Given the description of an element on the screen output the (x, y) to click on. 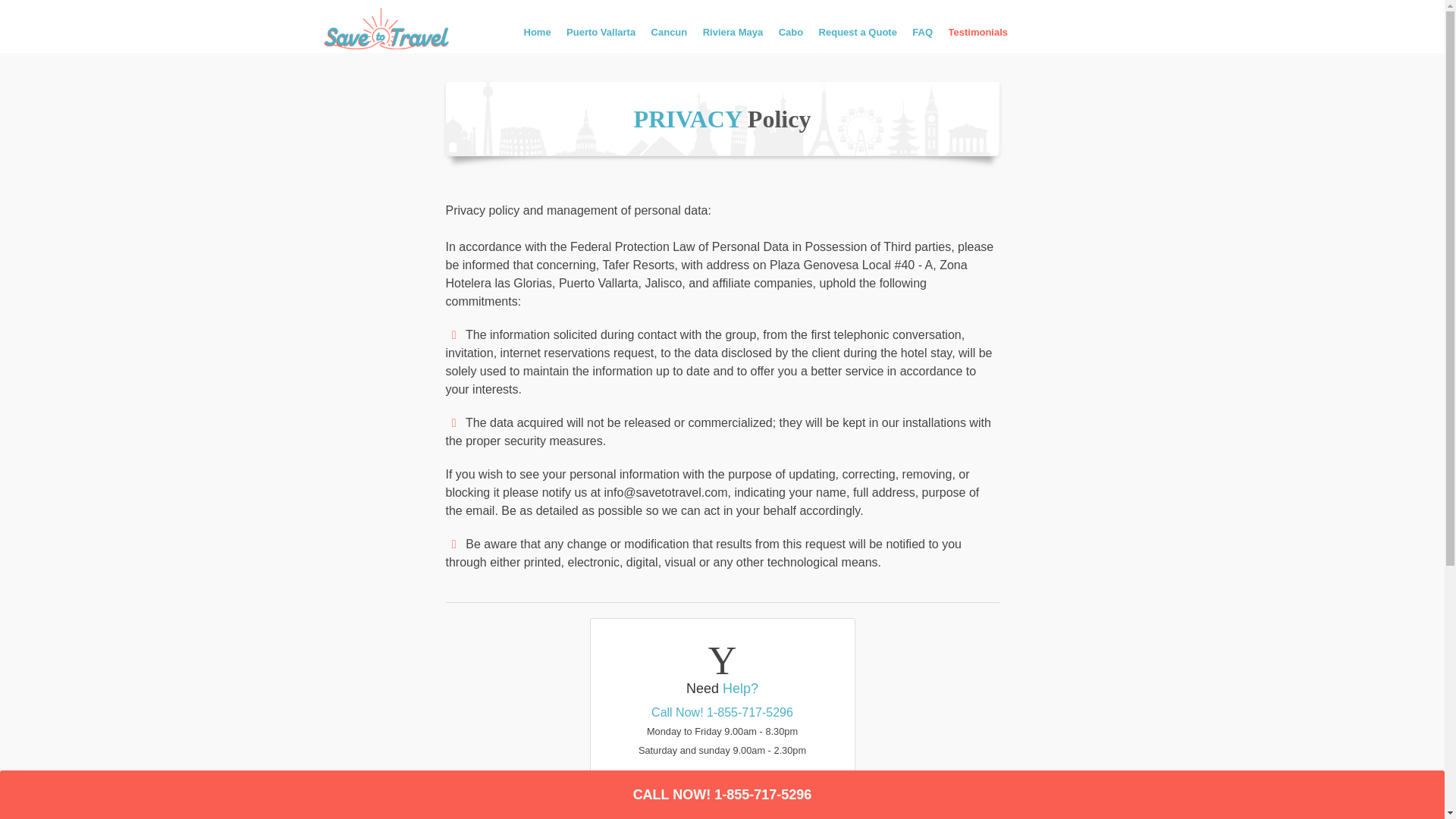
Testimonials (978, 38)
FAQ (922, 38)
Riviera Maya (733, 38)
Testimonials (978, 38)
Home (536, 38)
Cancun (669, 38)
Riviera Maya (733, 38)
Cabo (791, 38)
Cabo (791, 38)
Save to Travel (398, 30)
Call Now! 1-855-717-5296 (721, 720)
Cancun (669, 38)
Request a Quote (857, 38)
Puerto Vallarta (601, 38)
Save to Travel (536, 38)
